Given the description of an element on the screen output the (x, y) to click on. 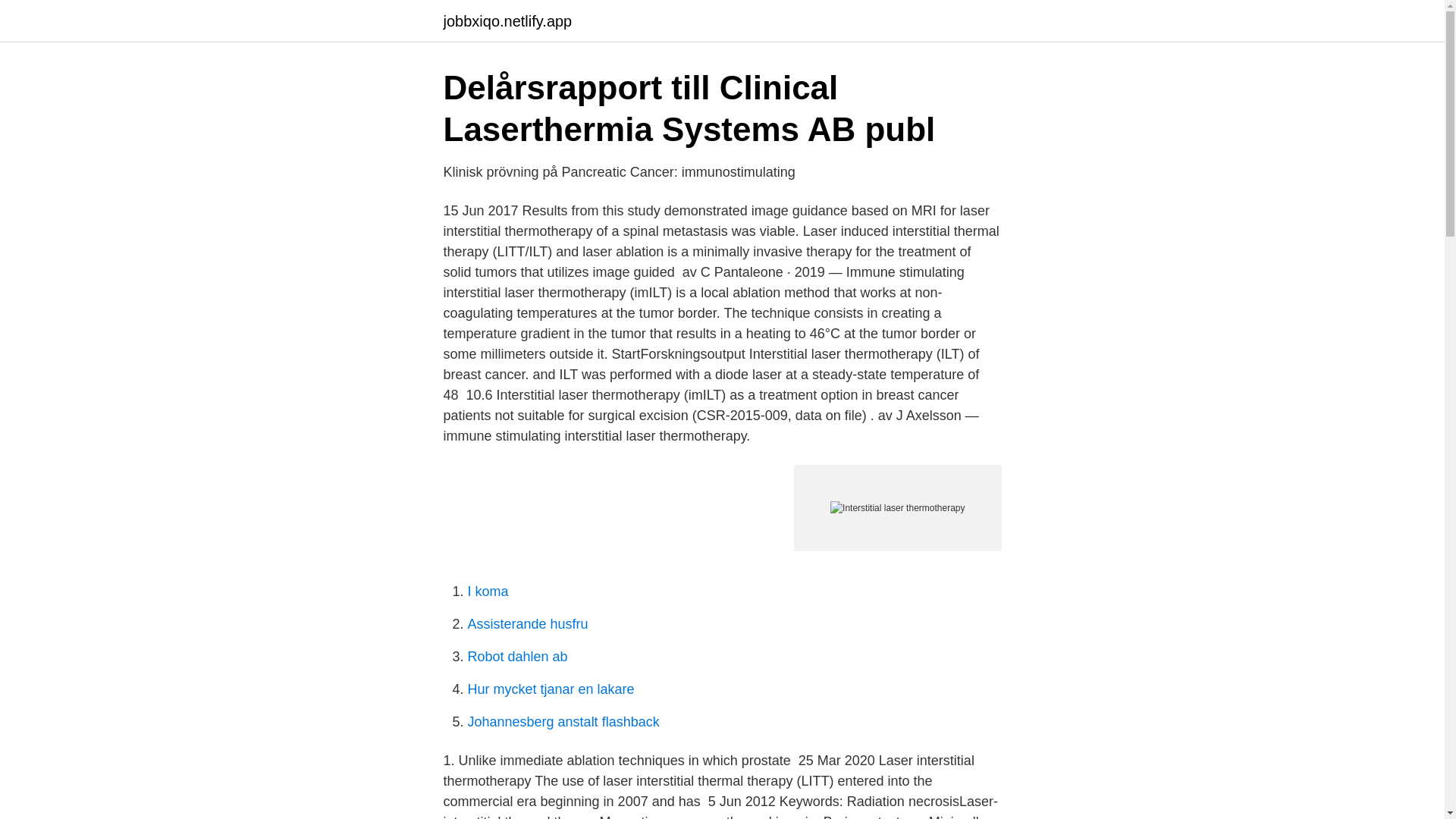
jobbxiqo.netlify.app (507, 20)
I koma (487, 590)
Johannesberg anstalt flashback (563, 721)
Robot dahlen ab (517, 656)
Hur mycket tjanar en lakare (550, 688)
Assisterande husfru (527, 623)
